Given the description of an element on the screen output the (x, y) to click on. 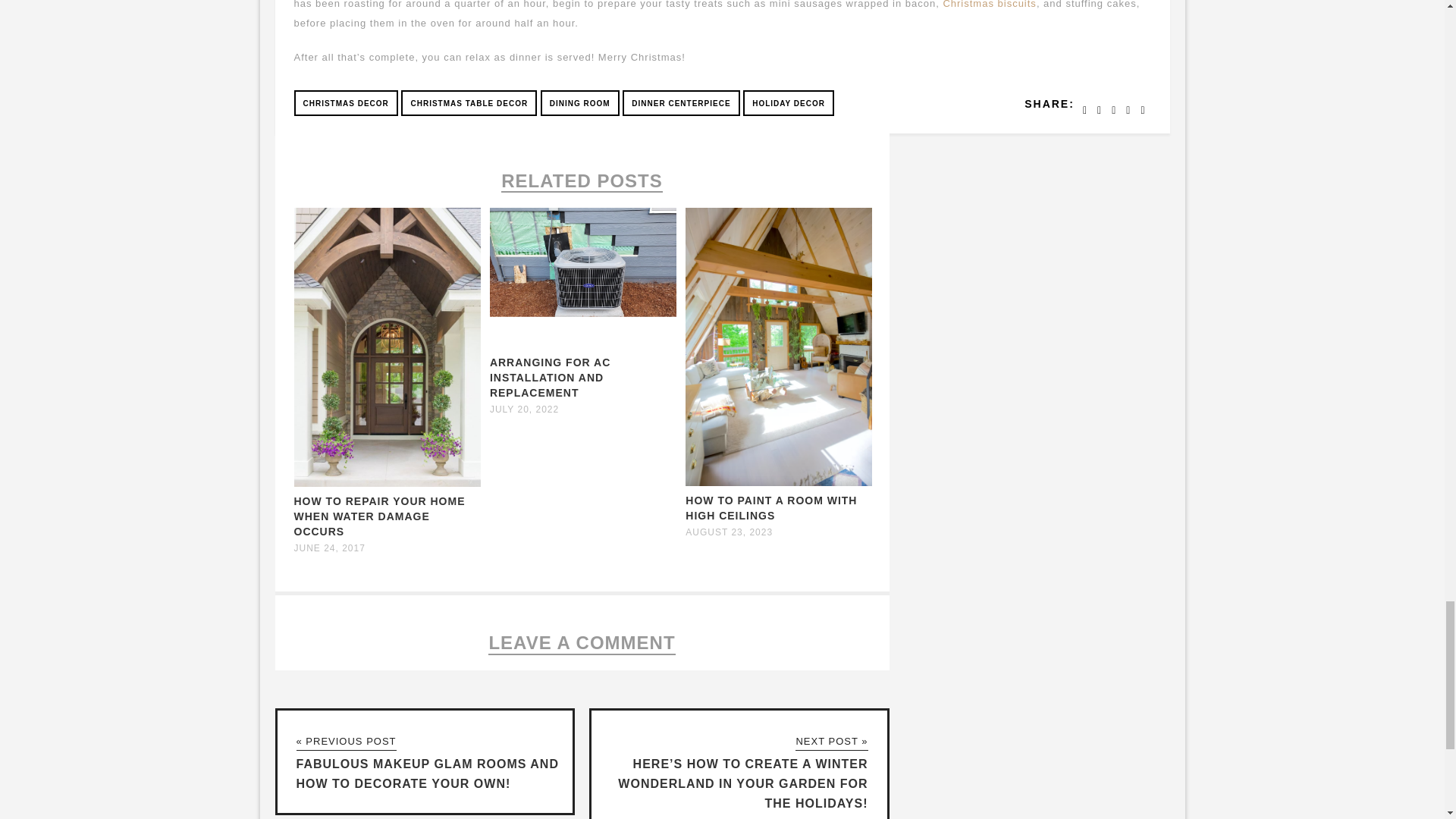
JUNE 24, 2017 (329, 547)
Permanent Link to How to Paint a Room With High Ceilings (771, 507)
HOW TO REPAIR YOUR HOME WHEN WATER DAMAGE OCCURS (379, 516)
CHRISTMAS DECOR (345, 103)
Permanent Link to How to Paint a Room With High Ceilings (778, 482)
DINNER CENTERPIECE (681, 103)
CHRISTMAS TABLE DECOR (469, 103)
